Given the description of an element on the screen output the (x, y) to click on. 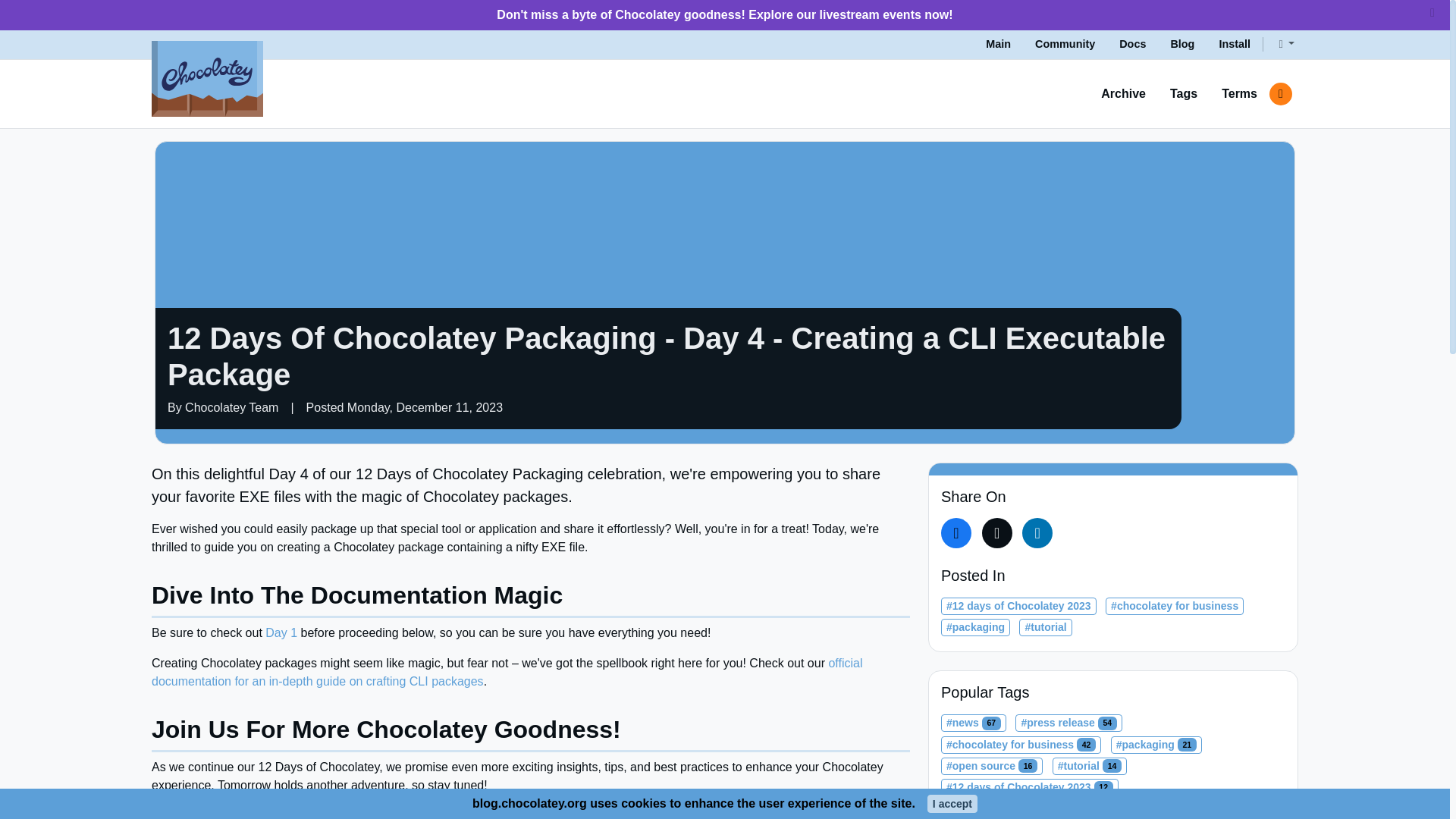
Community (1064, 44)
Main (998, 44)
Docs (1131, 44)
Blog (1182, 44)
Install (1234, 44)
Day 1 (280, 632)
Archive (1123, 93)
